Given the description of an element on the screen output the (x, y) to click on. 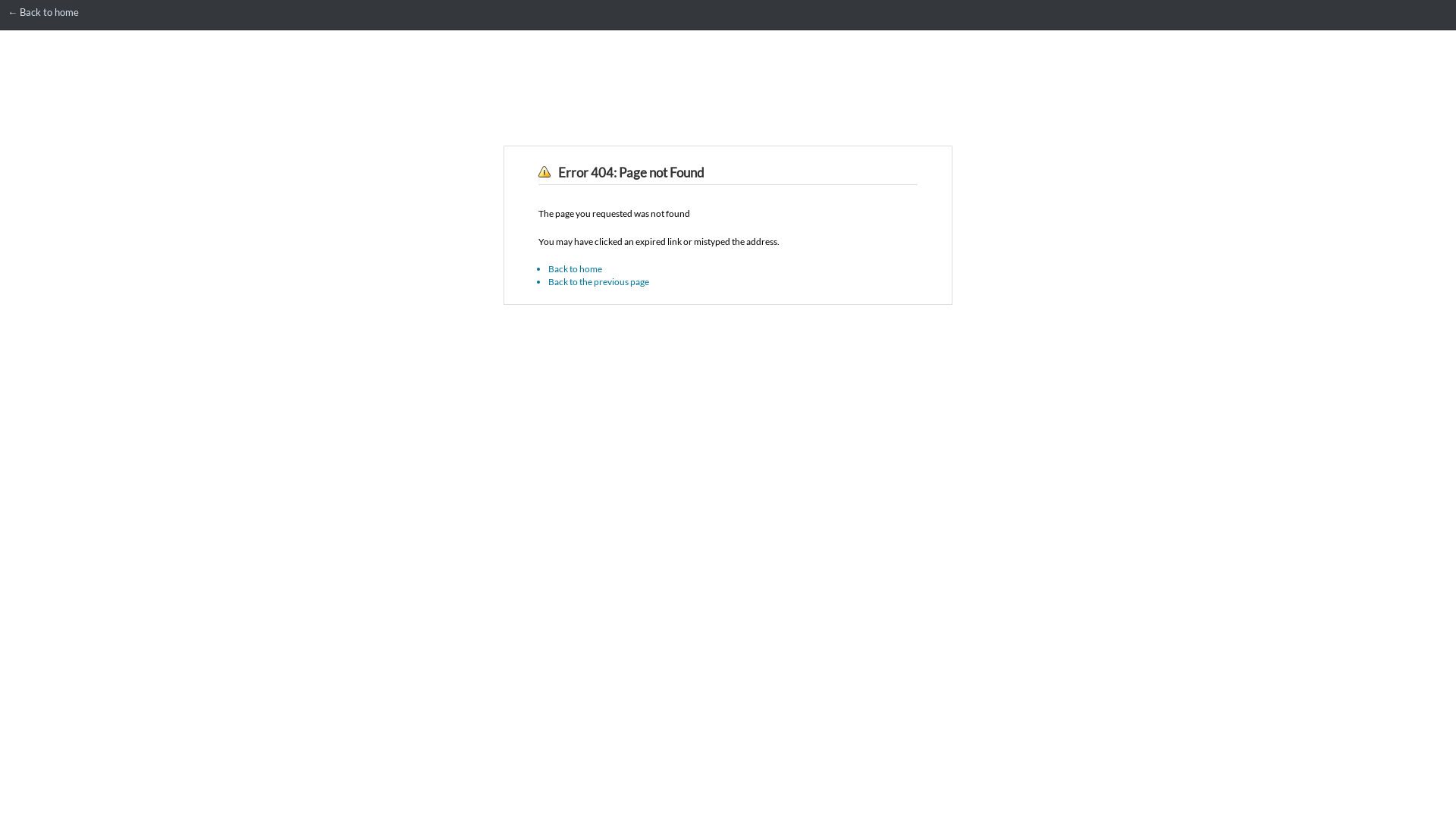
Back to home Element type: text (575, 268)
Back to the previous page Element type: text (598, 281)
